Given the description of an element on the screen output the (x, y) to click on. 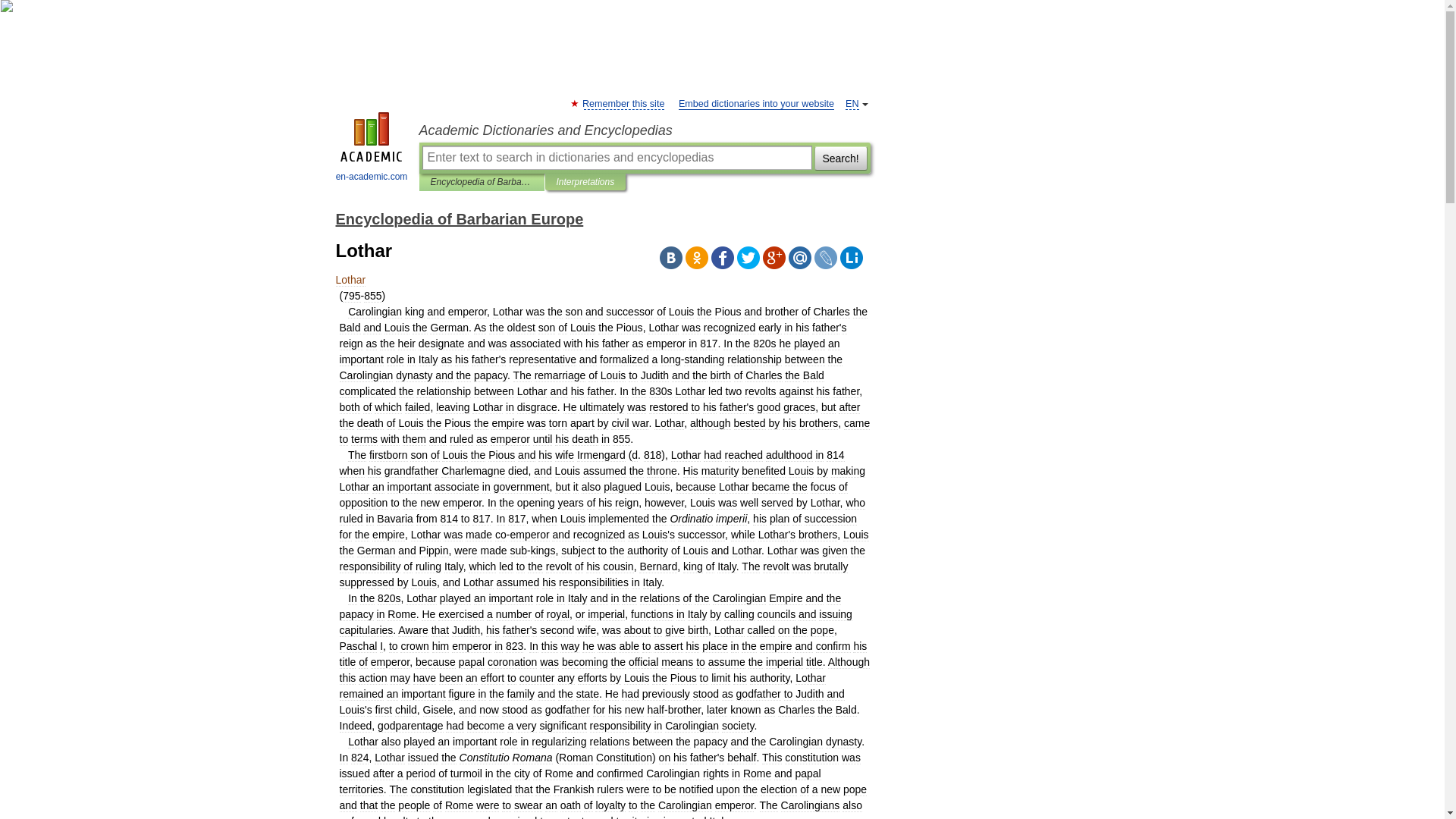
Remember this site (623, 103)
Enter text to search in dictionaries and encyclopedias (616, 157)
Embed dictionaries into your website (756, 103)
Interpretations (585, 181)
Academic Dictionaries and Encyclopedias (644, 130)
Encyclopedia of Barbarian Europe (458, 218)
EN (852, 103)
Encyclopedia of Barbarian Europe (481, 181)
Search! (840, 157)
en-academic.com (371, 148)
